Given the description of an element on the screen output the (x, y) to click on. 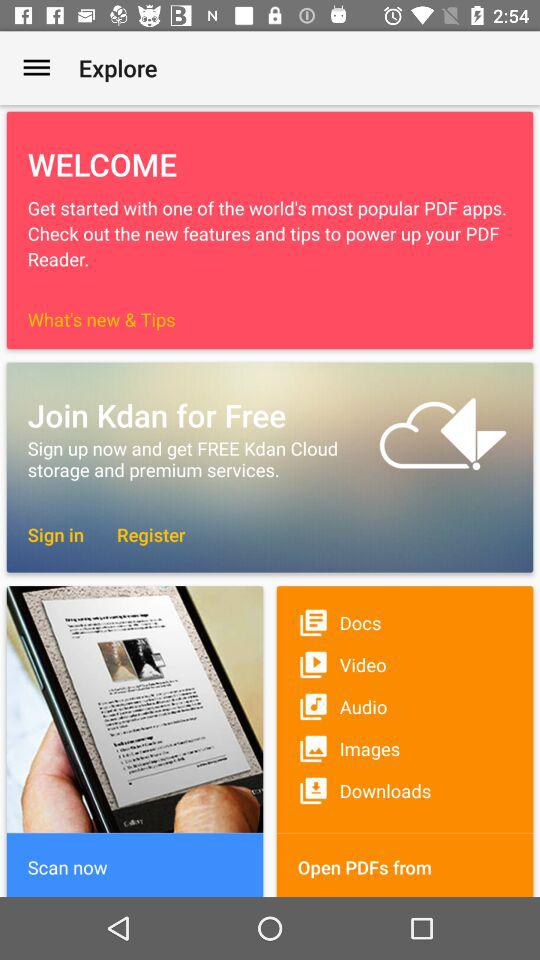
turn on the downloads (404, 790)
